Given the description of an element on the screen output the (x, y) to click on. 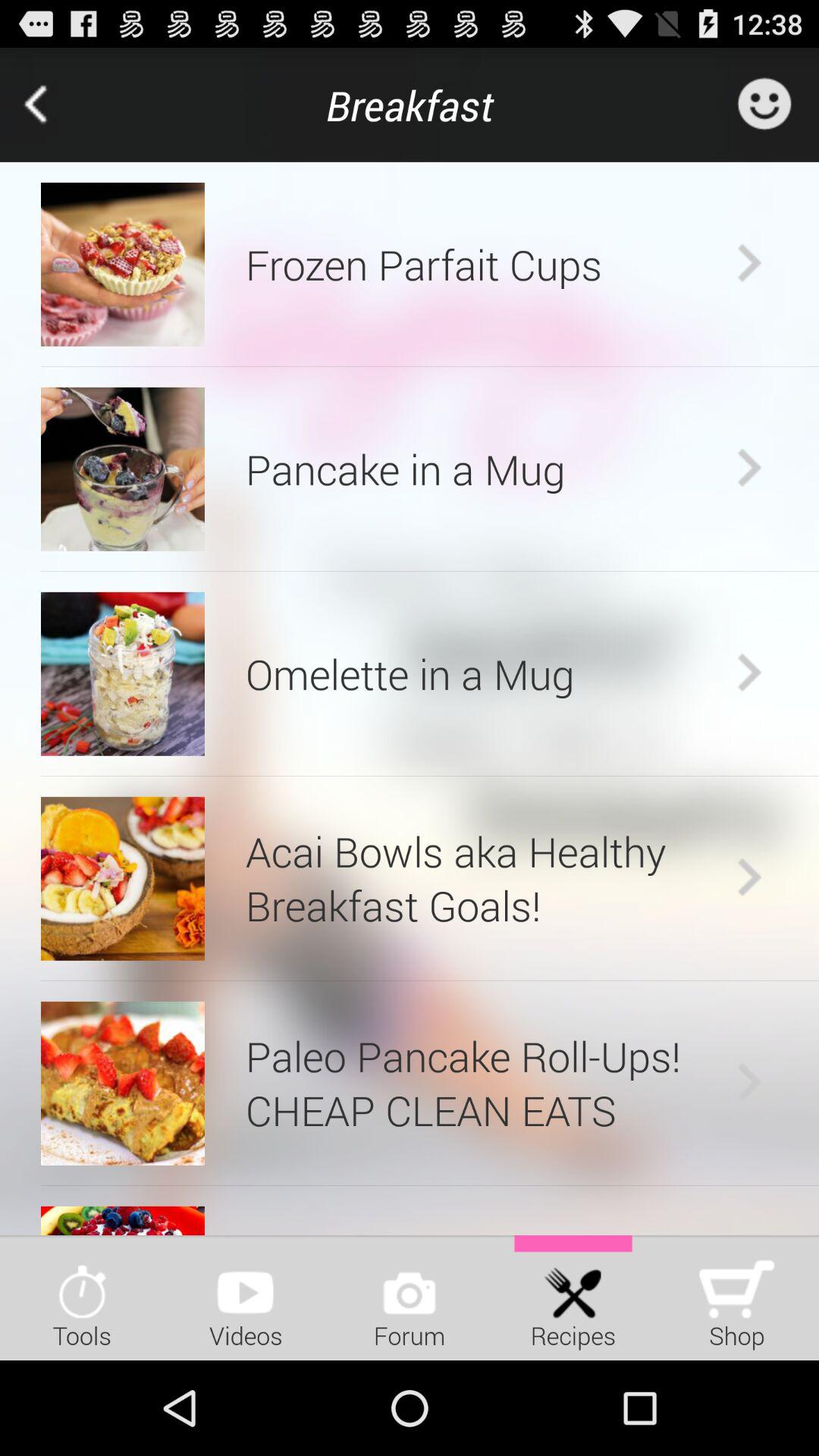
select item above the paleo pancake roll (429, 980)
